Given the description of an element on the screen output the (x, y) to click on. 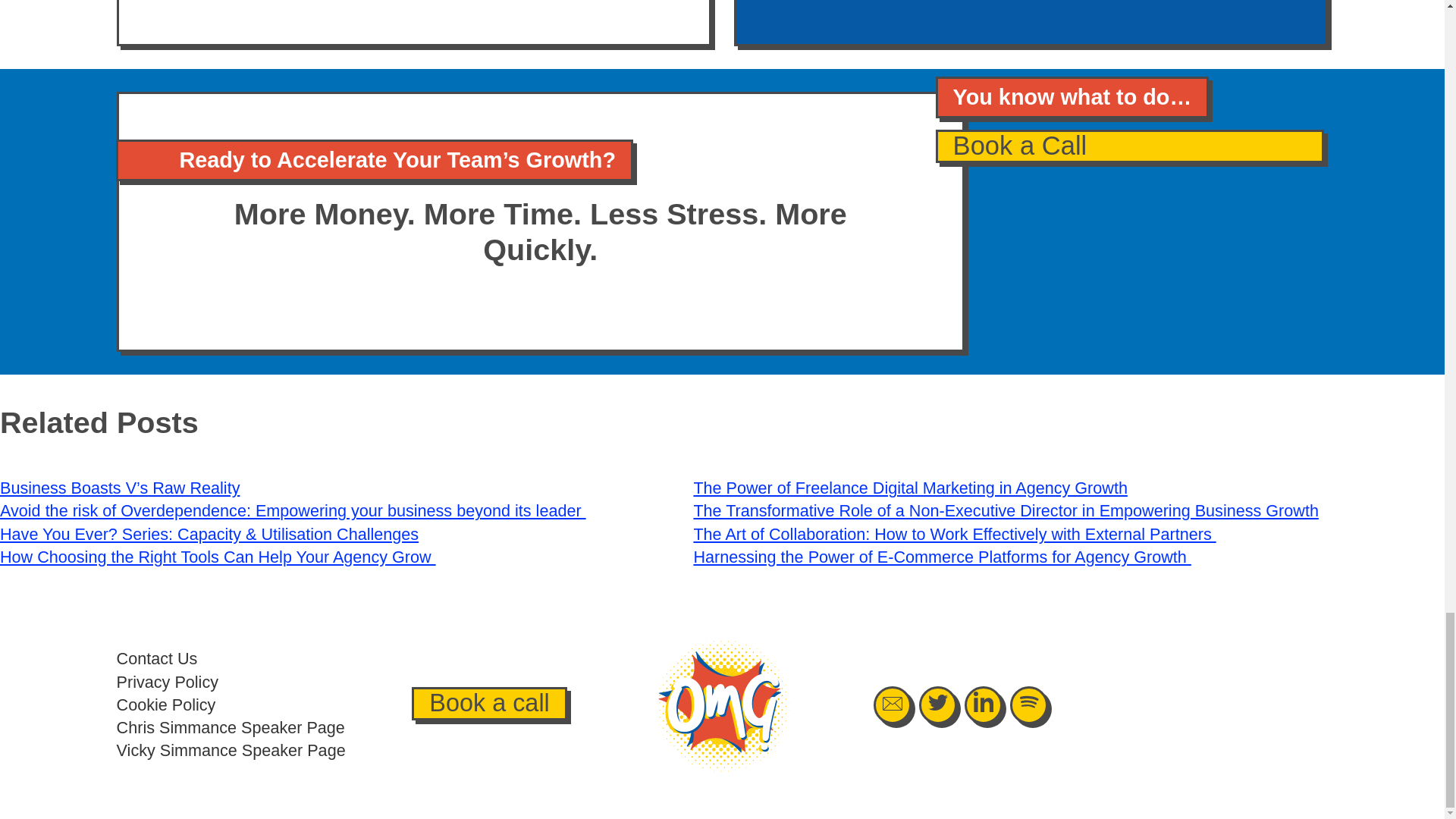
Cookie Policy (165, 704)
Vicky Simmance Speaker Page (231, 750)
Privacy Policy (167, 681)
Chris Simmance Speaker Page (230, 727)
The Power of Freelance Digital Marketing in Agency Growth (909, 487)
How Choosing the Right Tools Can Help Your Agency Grow  (217, 556)
